Given the description of an element on the screen output the (x, y) to click on. 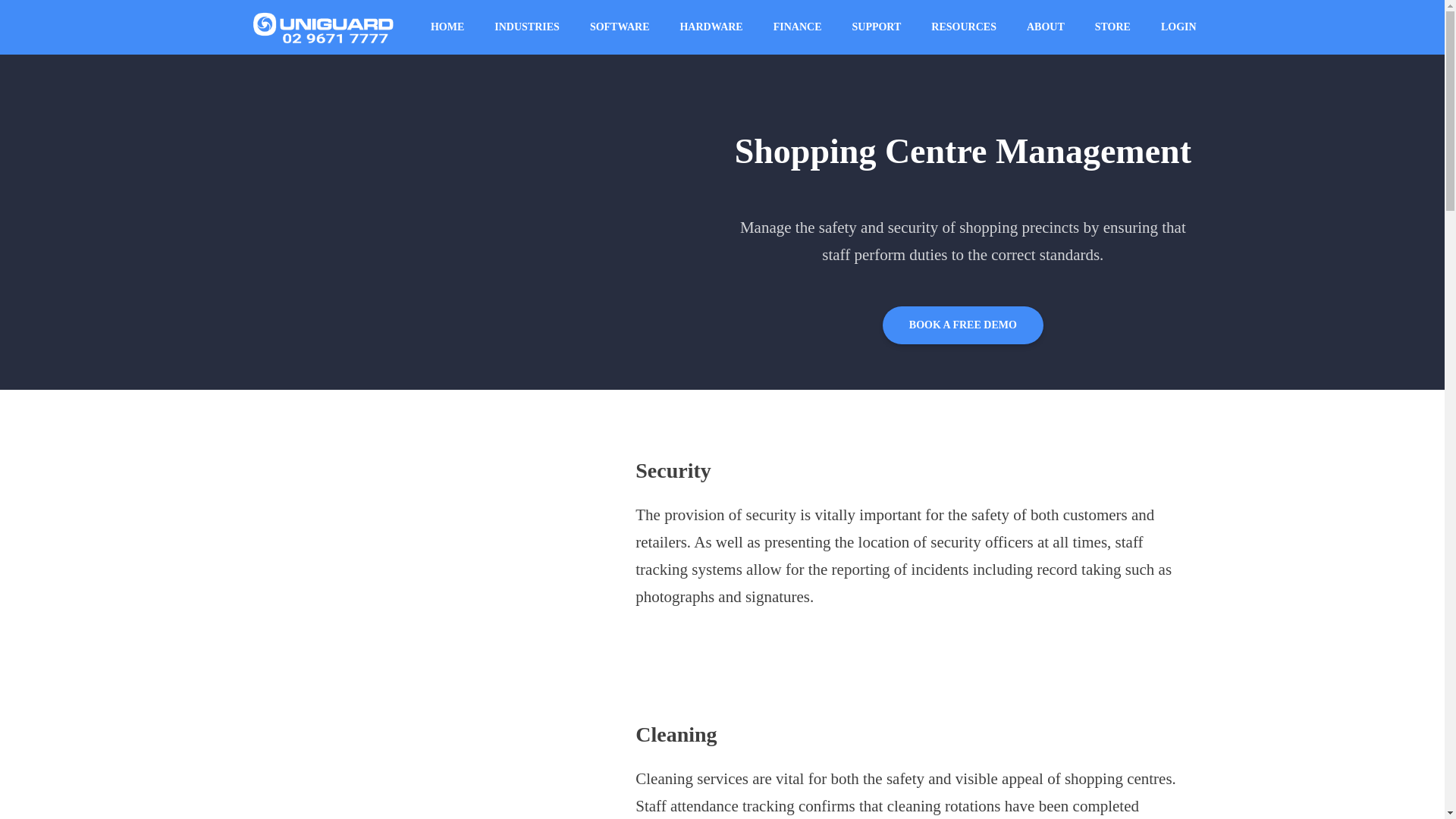
HARDWARE (710, 27)
INDUSTRIES (527, 27)
HOME (446, 27)
SOFTWARE (620, 27)
